Given the description of an element on the screen output the (x, y) to click on. 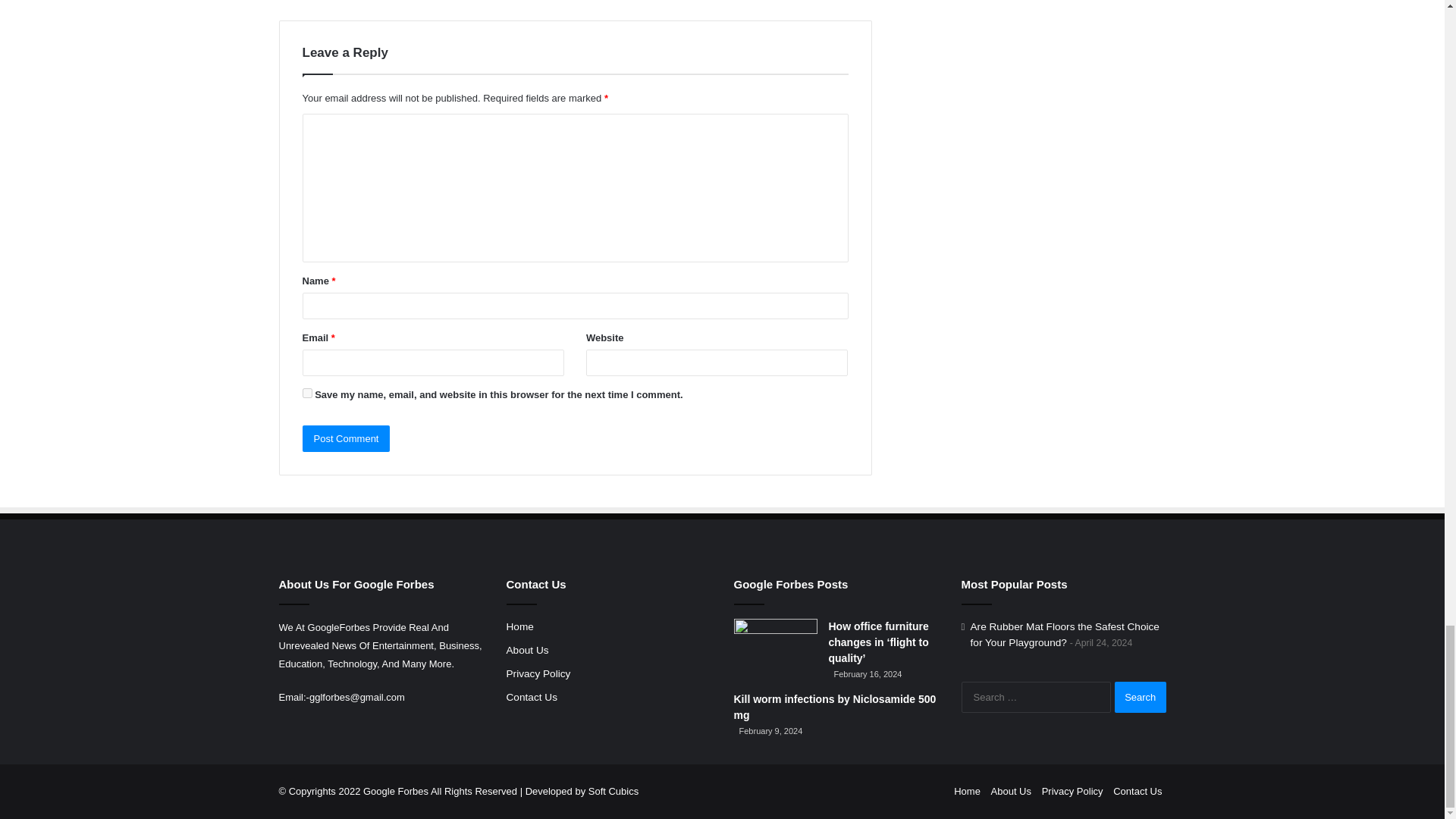
Search (1140, 696)
yes (306, 393)
Search (1140, 696)
Post Comment (345, 438)
